Given the description of an element on the screen output the (x, y) to click on. 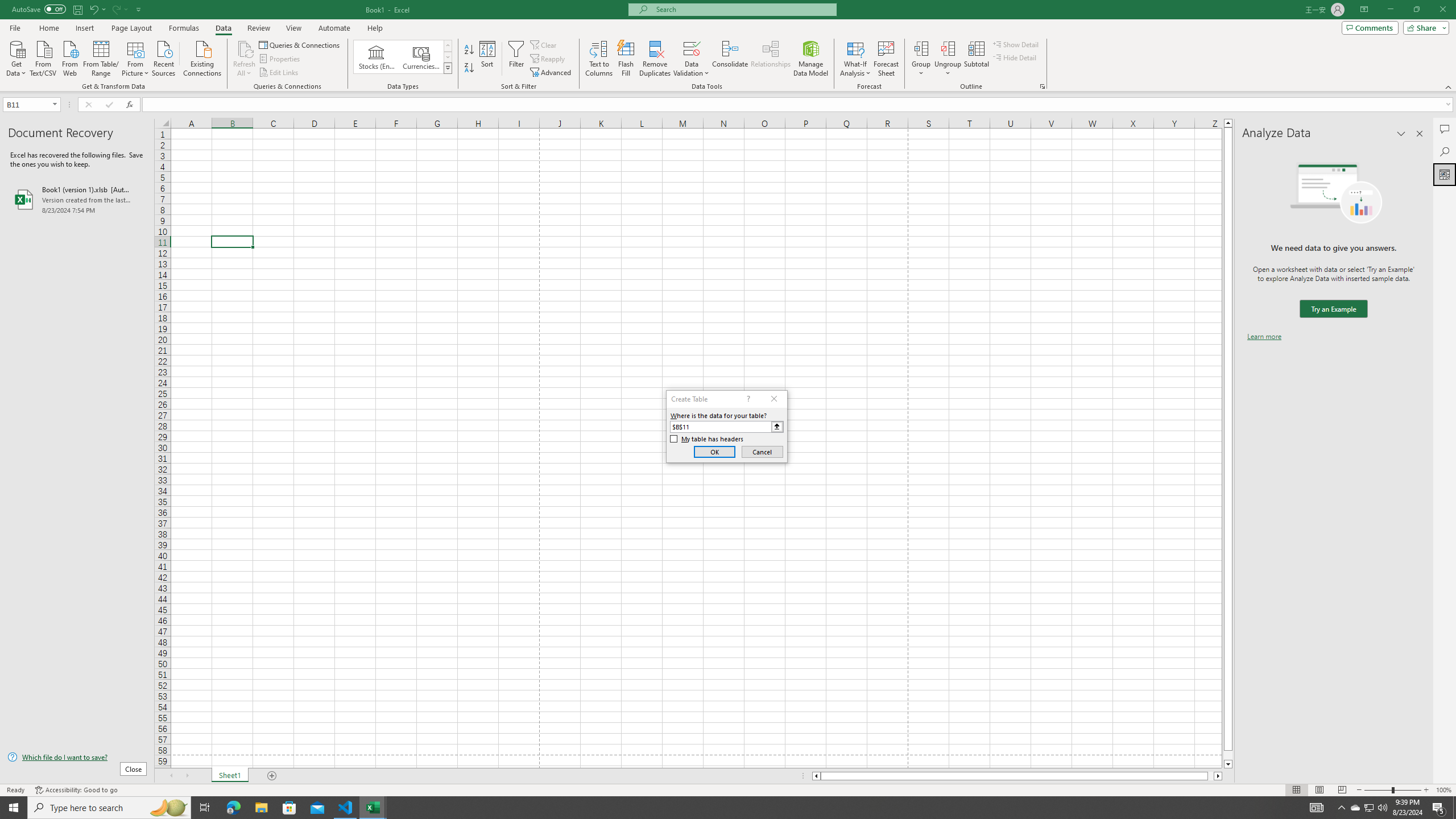
Flash Fill (625, 58)
Get Data (16, 57)
Remove Duplicates (654, 58)
Sort... (487, 58)
Properties (280, 58)
